Given the description of an element on the screen output the (x, y) to click on. 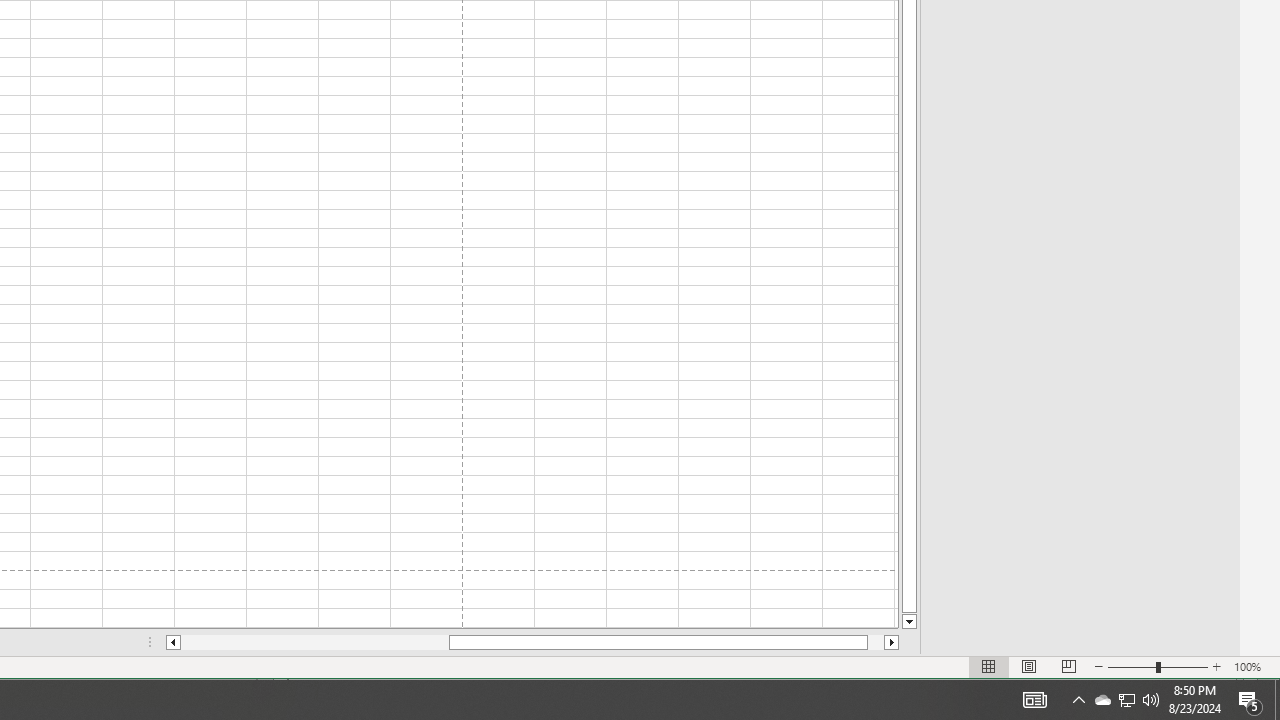
AutomationID: 4105 (1034, 699)
Show desktop (1277, 699)
Page left (314, 642)
Notification Chevron (1078, 699)
User Promoted Notification Area (1126, 699)
Q2790: 100% (1102, 699)
Action Center, 5 new notifications (1151, 699)
